Given the description of an element on the screen output the (x, y) to click on. 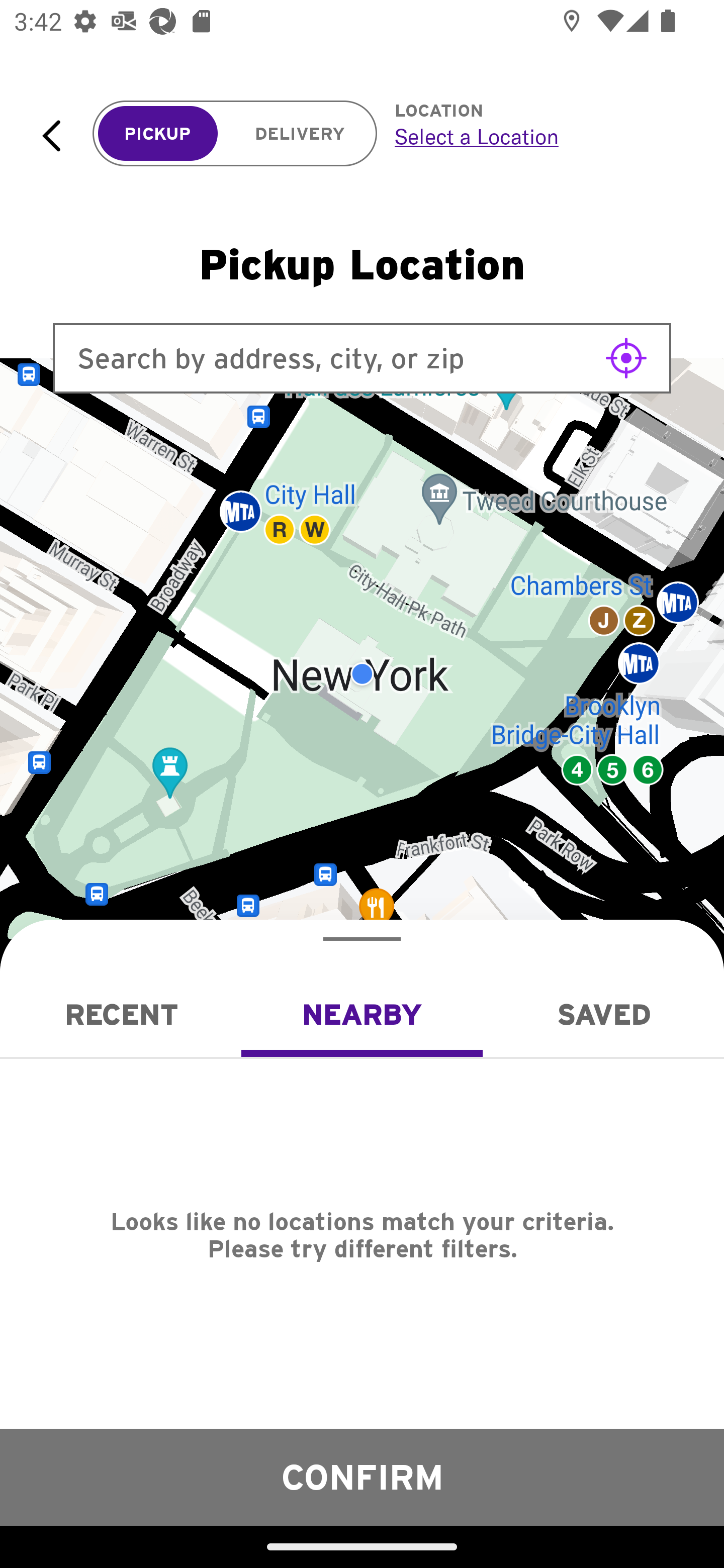
PICKUP (157, 133)
DELIVERY (299, 133)
Select a Location (536, 136)
Search by address, city, or zip (361, 358)
Google Map (362, 674)
Recent RECENT (120, 1014)
Saved SAVED (603, 1014)
CONFIRM (362, 1476)
